Given the description of an element on the screen output the (x, y) to click on. 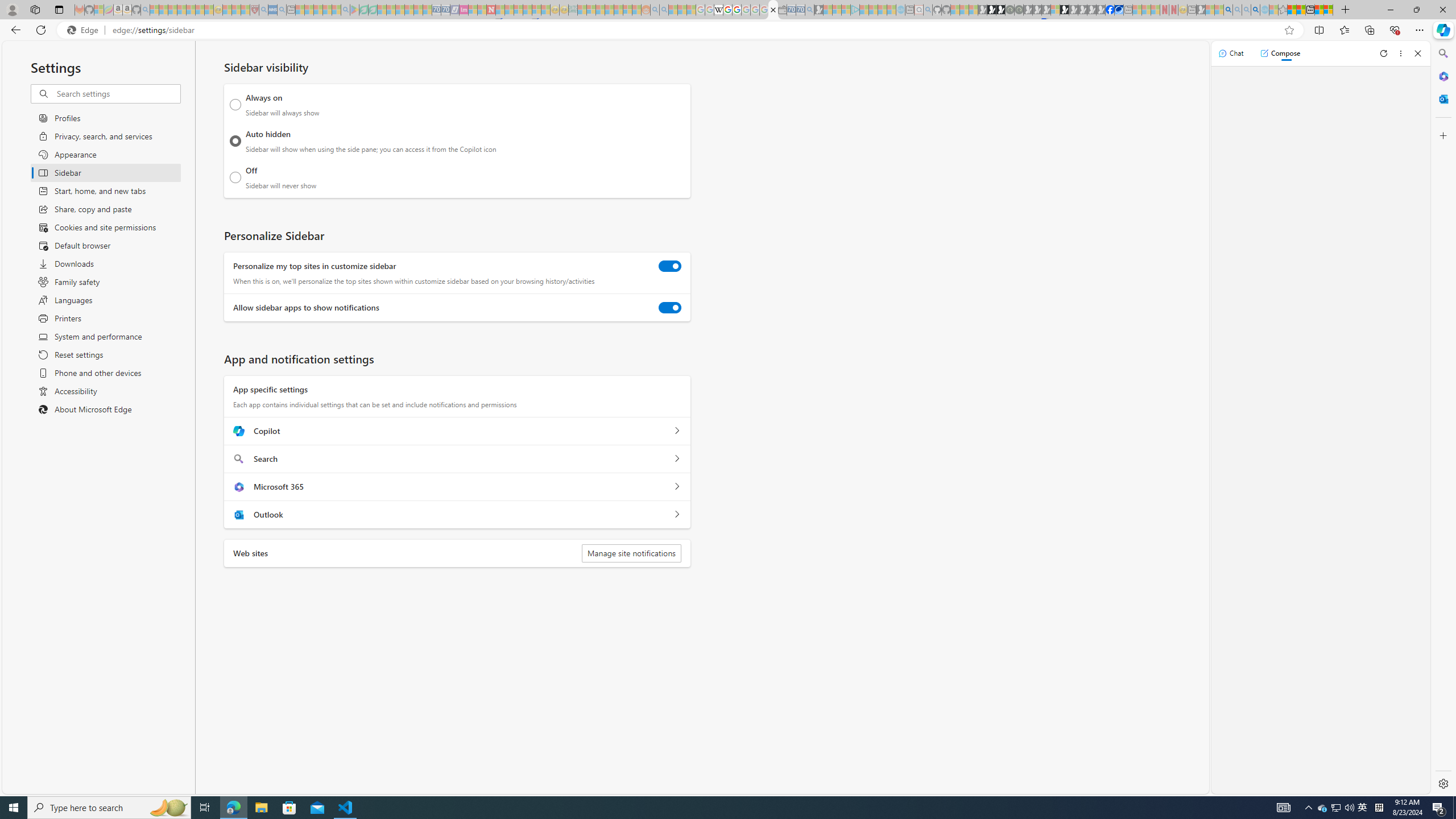
Edge (84, 29)
Play Zoo Boom in your browser | Games from Microsoft Start (991, 9)
